Given the description of an element on the screen output the (x, y) to click on. 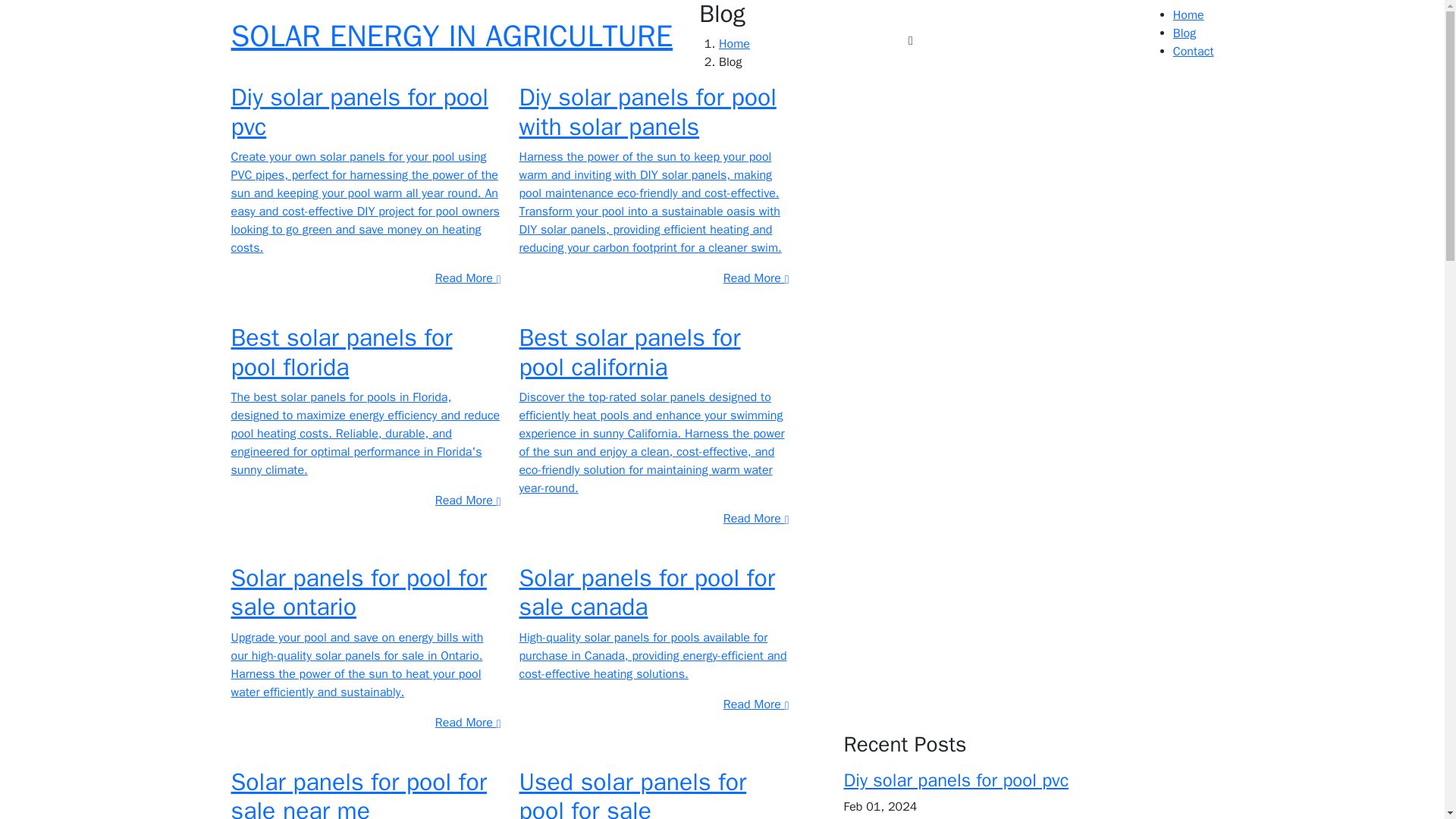
SOLAR ENERGY IN AGRICULTURE (451, 39)
Solar panels for pool for sale canada (646, 592)
Read More (467, 500)
Home (1188, 14)
Diy solar panels for pool with solar panels (647, 111)
Read More (467, 278)
Home (734, 43)
